Given the description of an element on the screen output the (x, y) to click on. 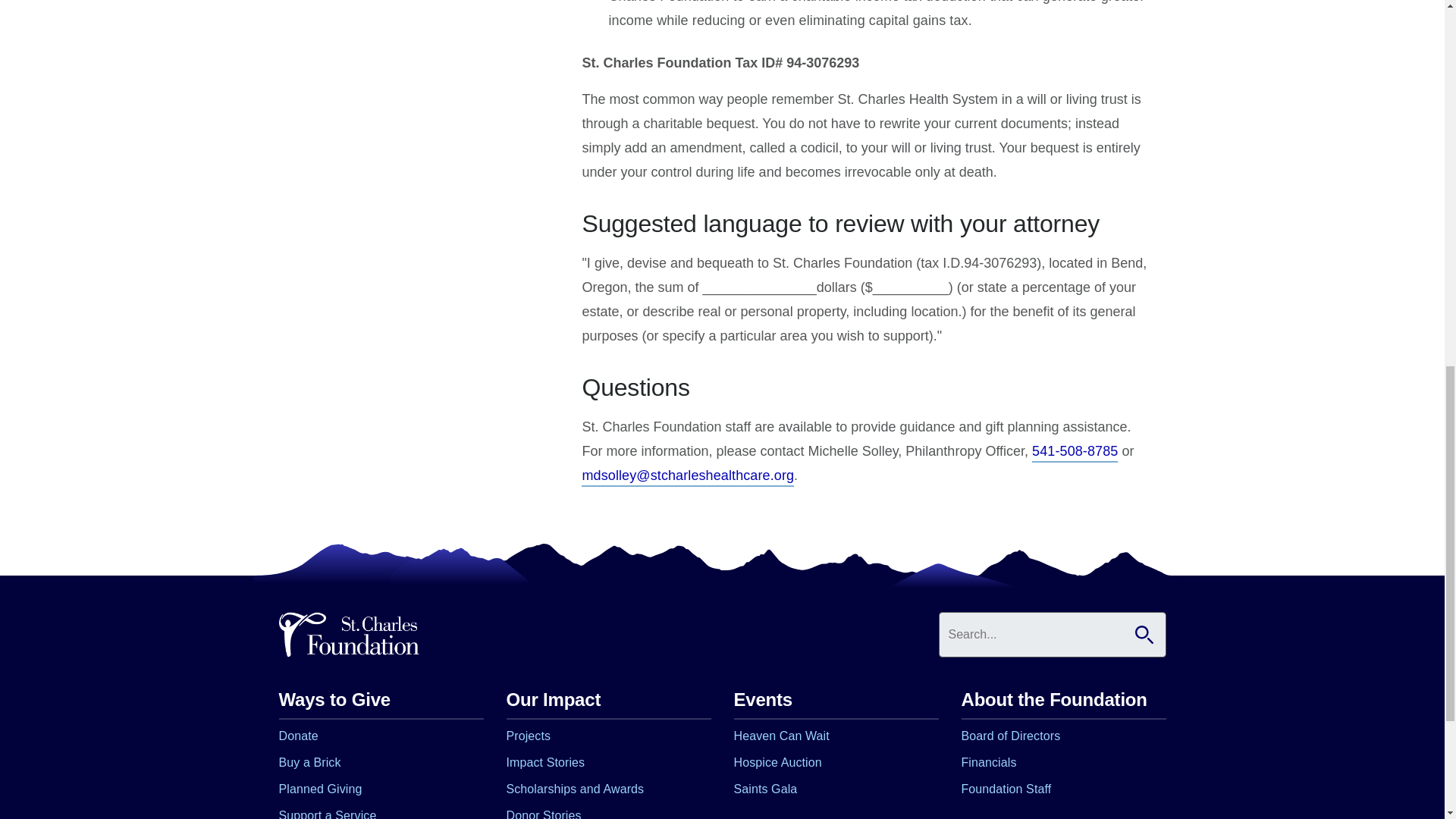
Planned Giving (320, 790)
St. Charles Health System (349, 636)
Donate (298, 737)
Buy a Brick (309, 764)
